Given the description of an element on the screen output the (x, y) to click on. 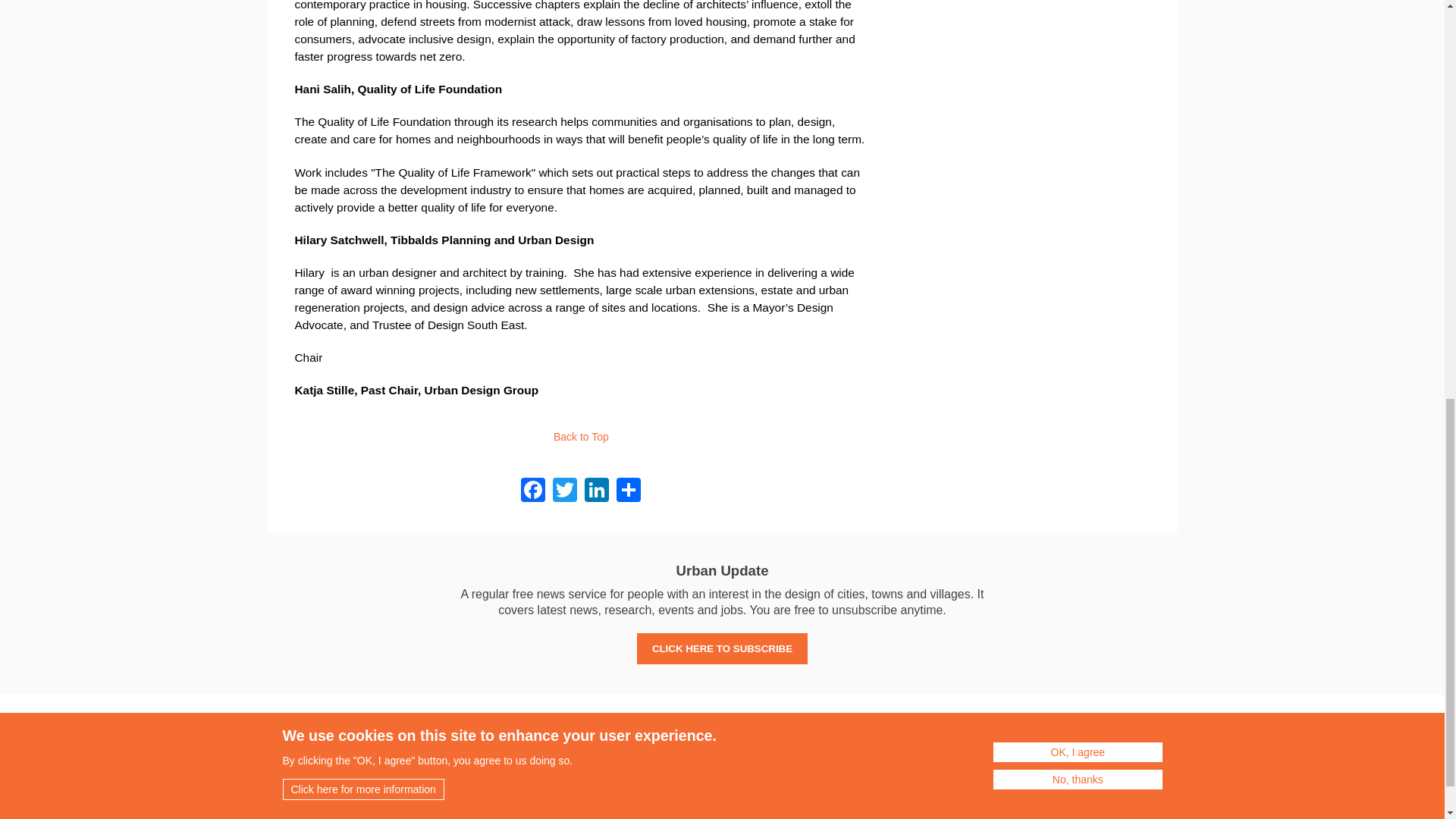
Facebook (532, 488)
Back to Top (580, 436)
Twitter (564, 488)
